Given the description of an element on the screen output the (x, y) to click on. 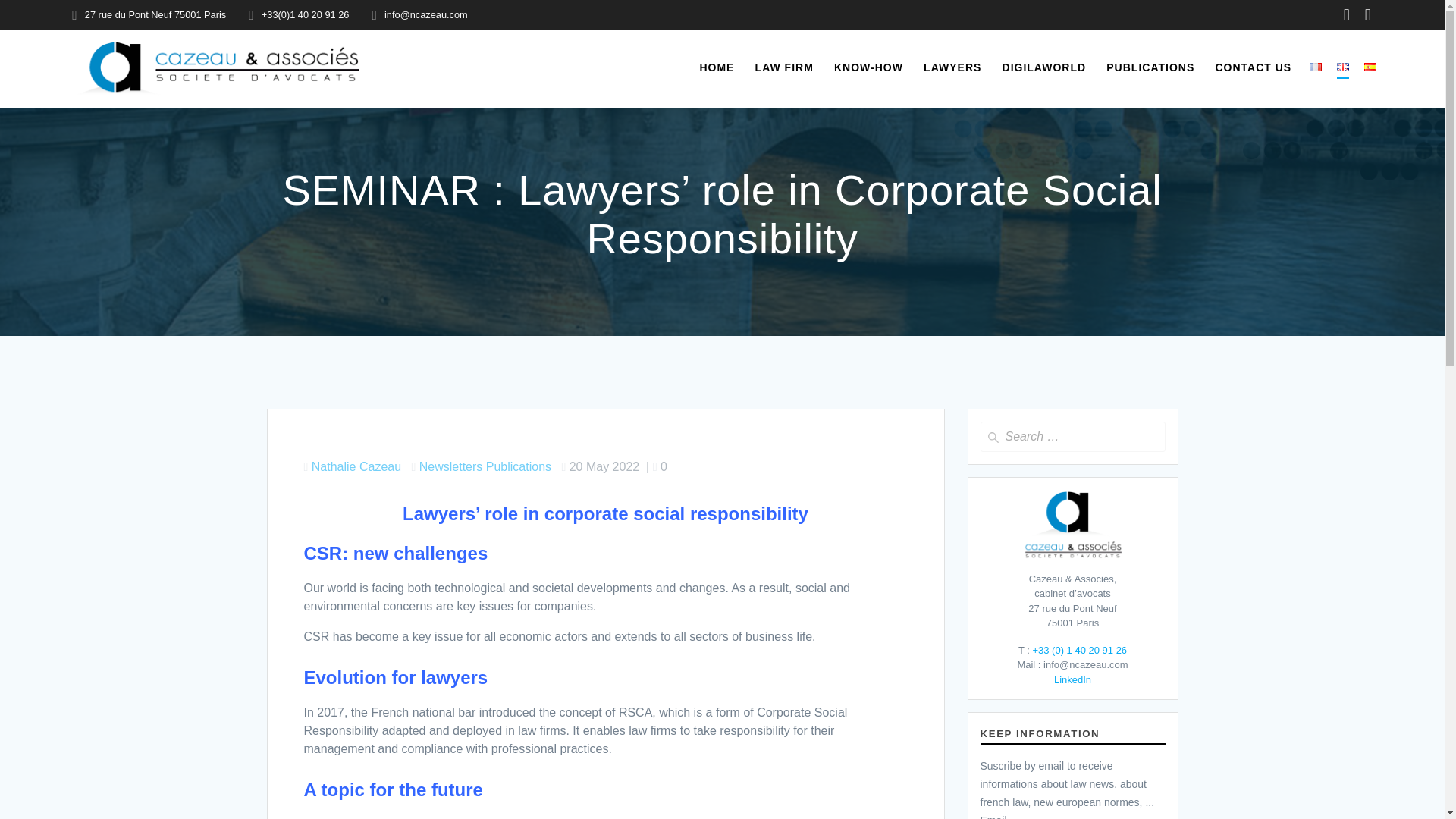
LAWYERS (952, 67)
Nathalie Cazeau (356, 466)
KNOW-HOW (868, 67)
PUBLICATIONS (1149, 67)
LAW FIRM (784, 67)
DIGILAWORLD (1044, 67)
Posts by Nathalie Cazeau (356, 466)
Publications (518, 466)
HOME (715, 67)
LinkedIn (1072, 679)
CONTACT US (1252, 67)
Newsletters (451, 466)
